Given the description of an element on the screen output the (x, y) to click on. 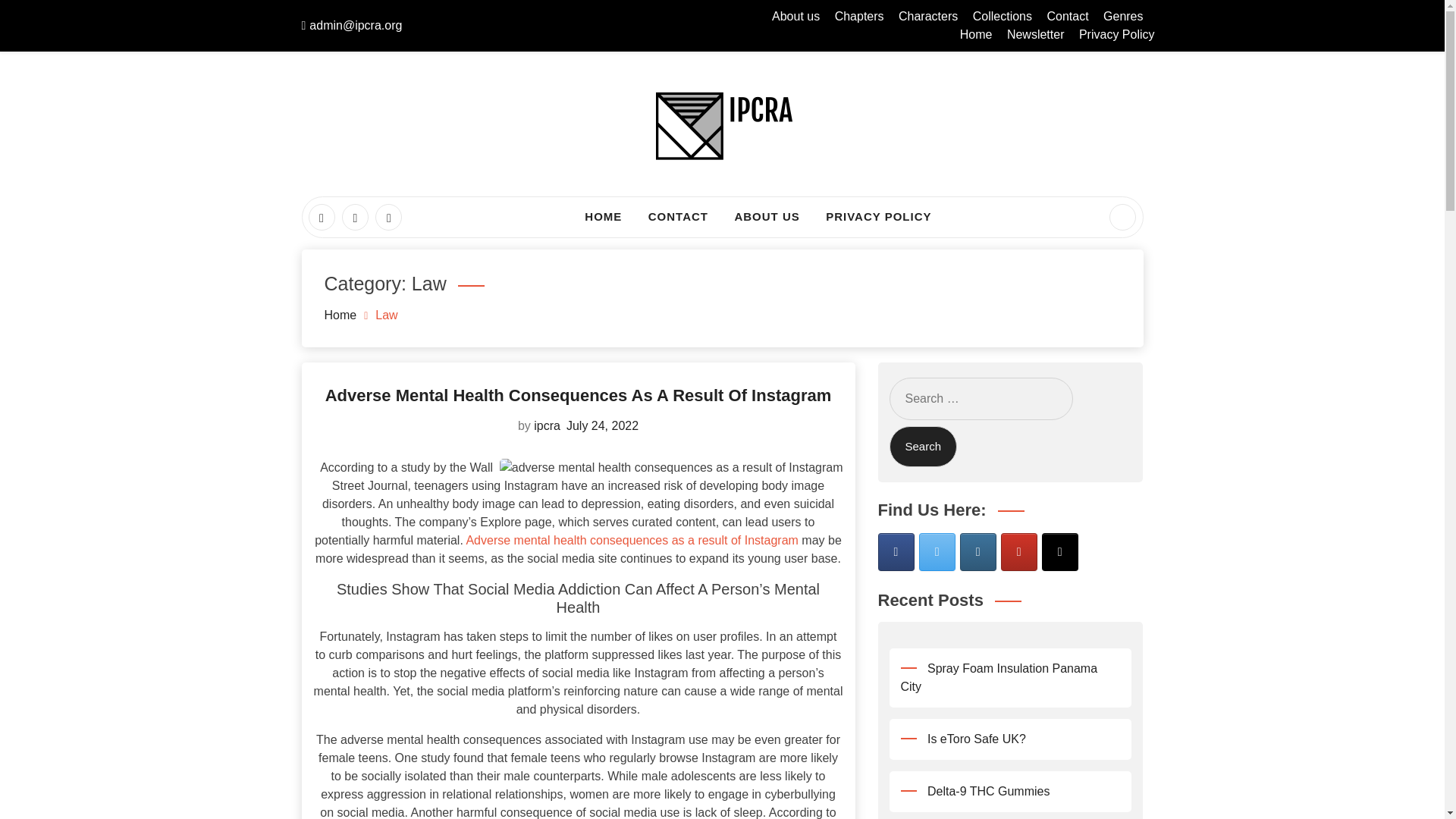
Home (340, 314)
Search (922, 446)
ipcra (547, 425)
Search (40, 18)
CONTACT (678, 217)
Newsletter (1035, 33)
Genres (1122, 15)
IPCRA on Tiktok (1060, 551)
Search (922, 446)
Privacy Policy (1116, 33)
Chapters (858, 15)
Characters (928, 15)
Contact (1066, 15)
About us (795, 15)
IPCRA on Instagram (977, 551)
